Given the description of an element on the screen output the (x, y) to click on. 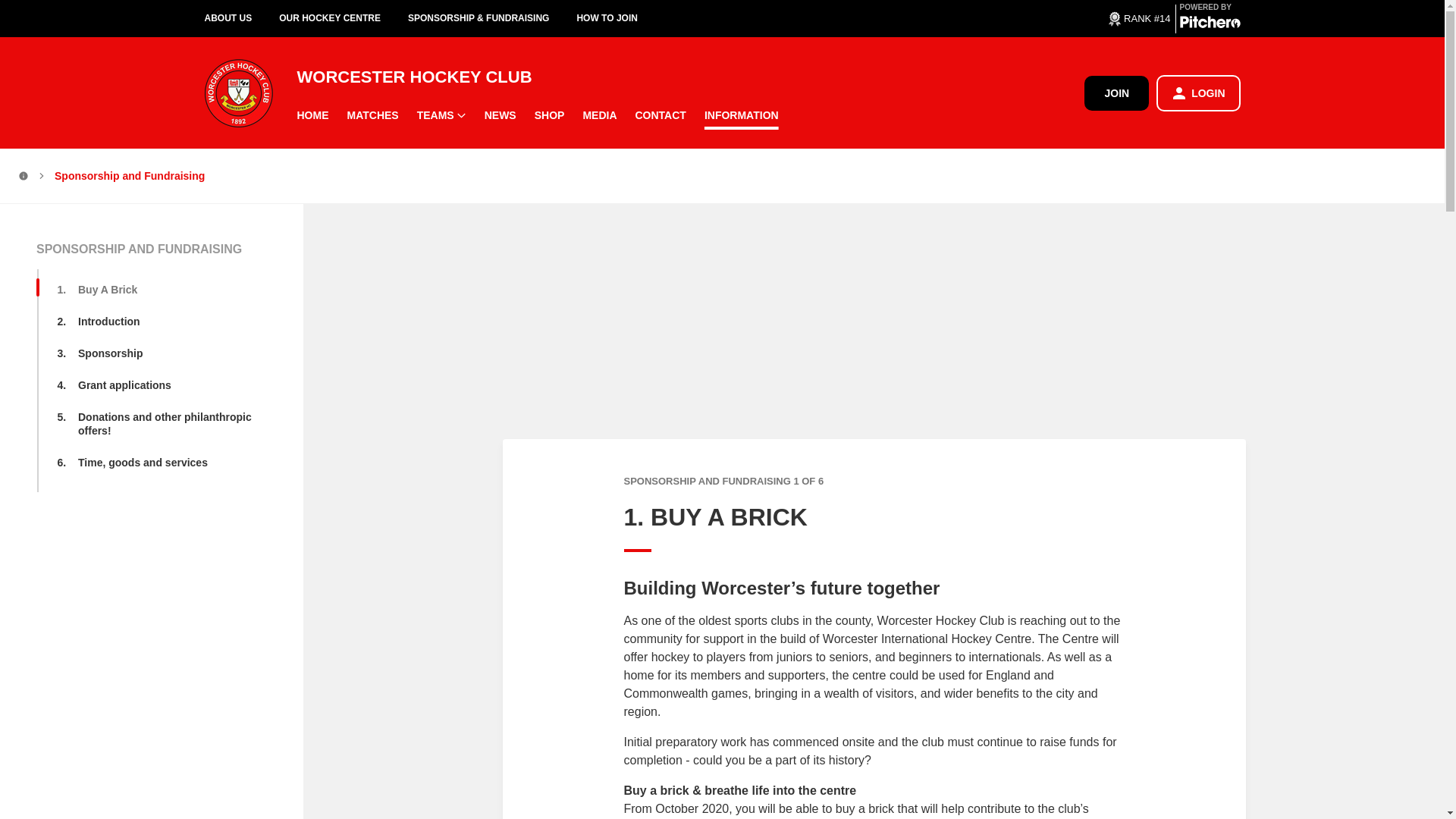
Pitchero Rankings (1137, 18)
OUR HOCKEY CENTRE (343, 18)
MATCHES (372, 115)
HOW TO JOIN (619, 18)
JOIN (1116, 93)
Pitchero (1209, 24)
CONTACT (660, 115)
INFORMATION (741, 115)
HOME (312, 115)
LOGIN (1198, 93)
